Given the description of an element on the screen output the (x, y) to click on. 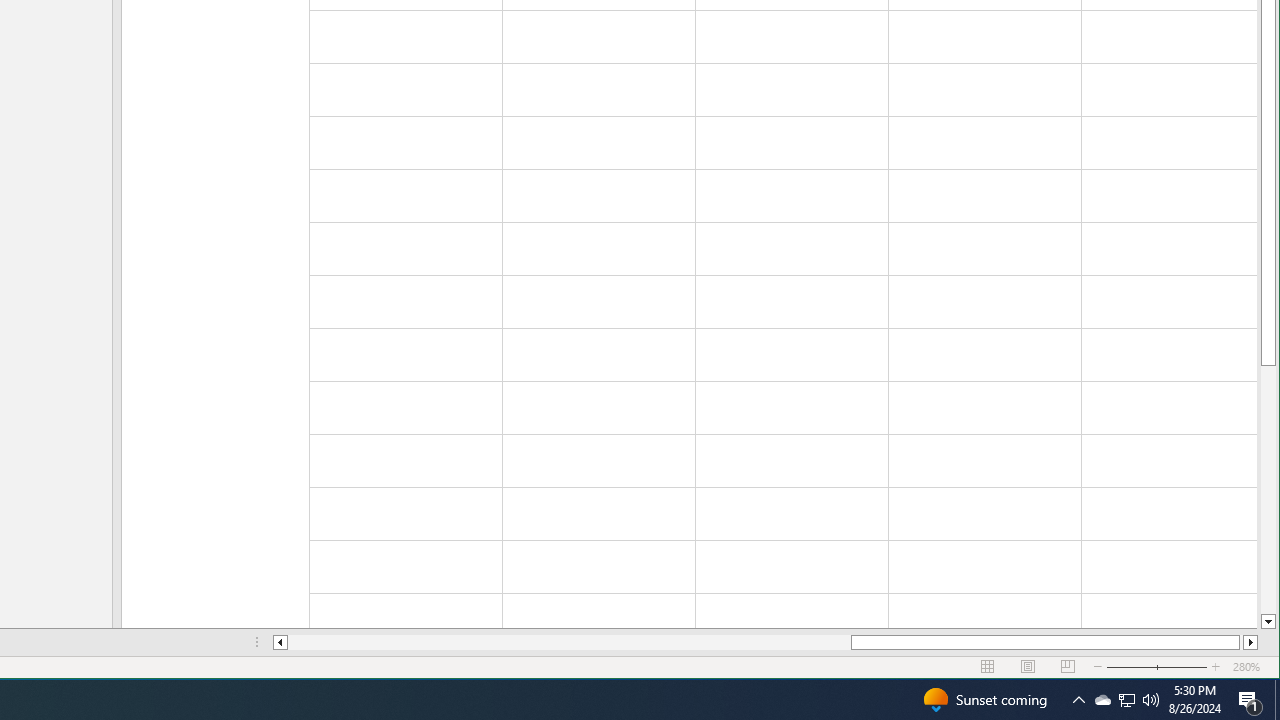
Notification Chevron (1078, 699)
Q2790: 100% (1126, 699)
User Promoted Notification Area (1151, 699)
Action Center, 1 new notification (1126, 699)
